Given the description of an element on the screen output the (x, y) to click on. 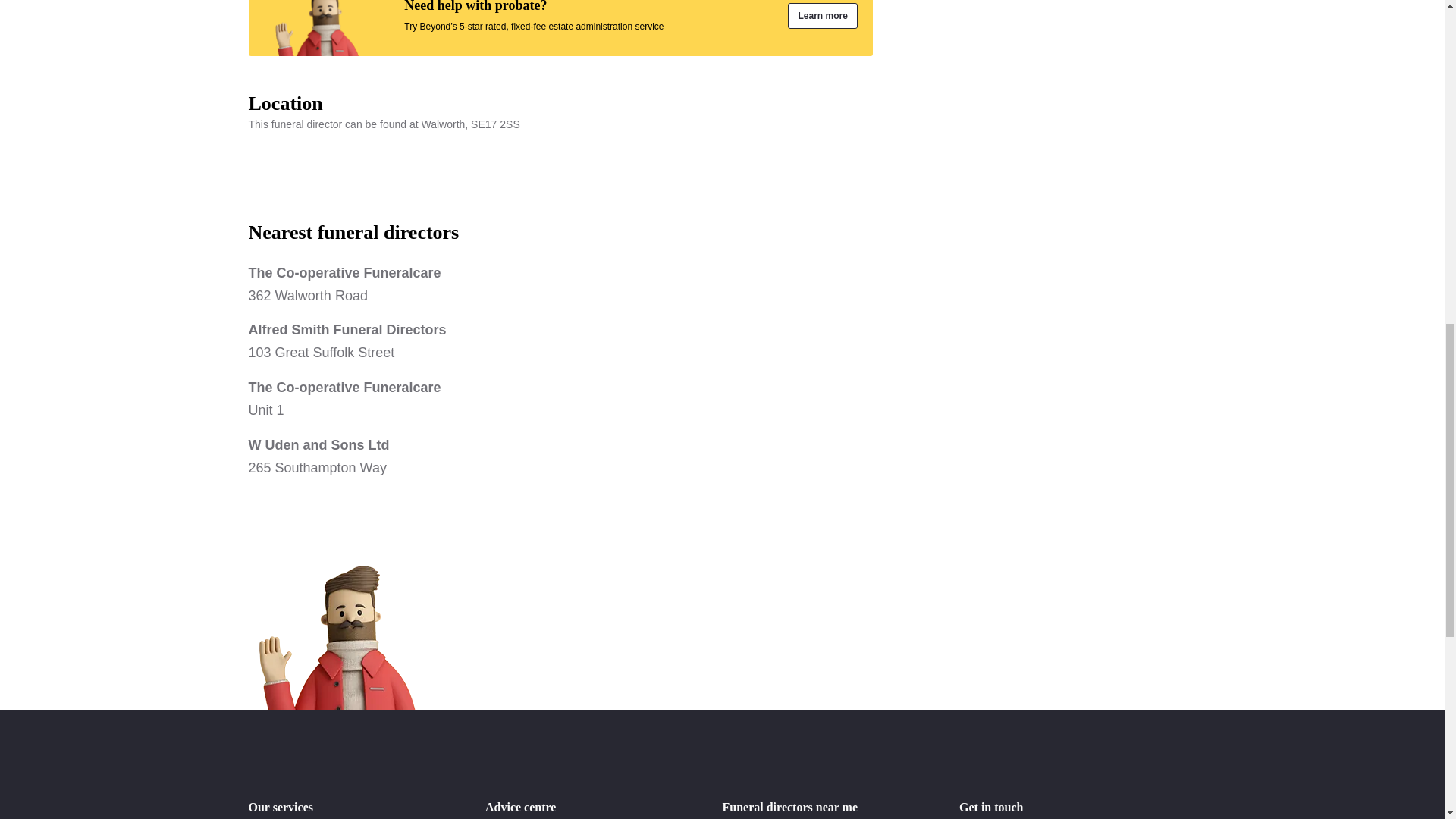
Learn more (560, 341)
